Given the description of an element on the screen output the (x, y) to click on. 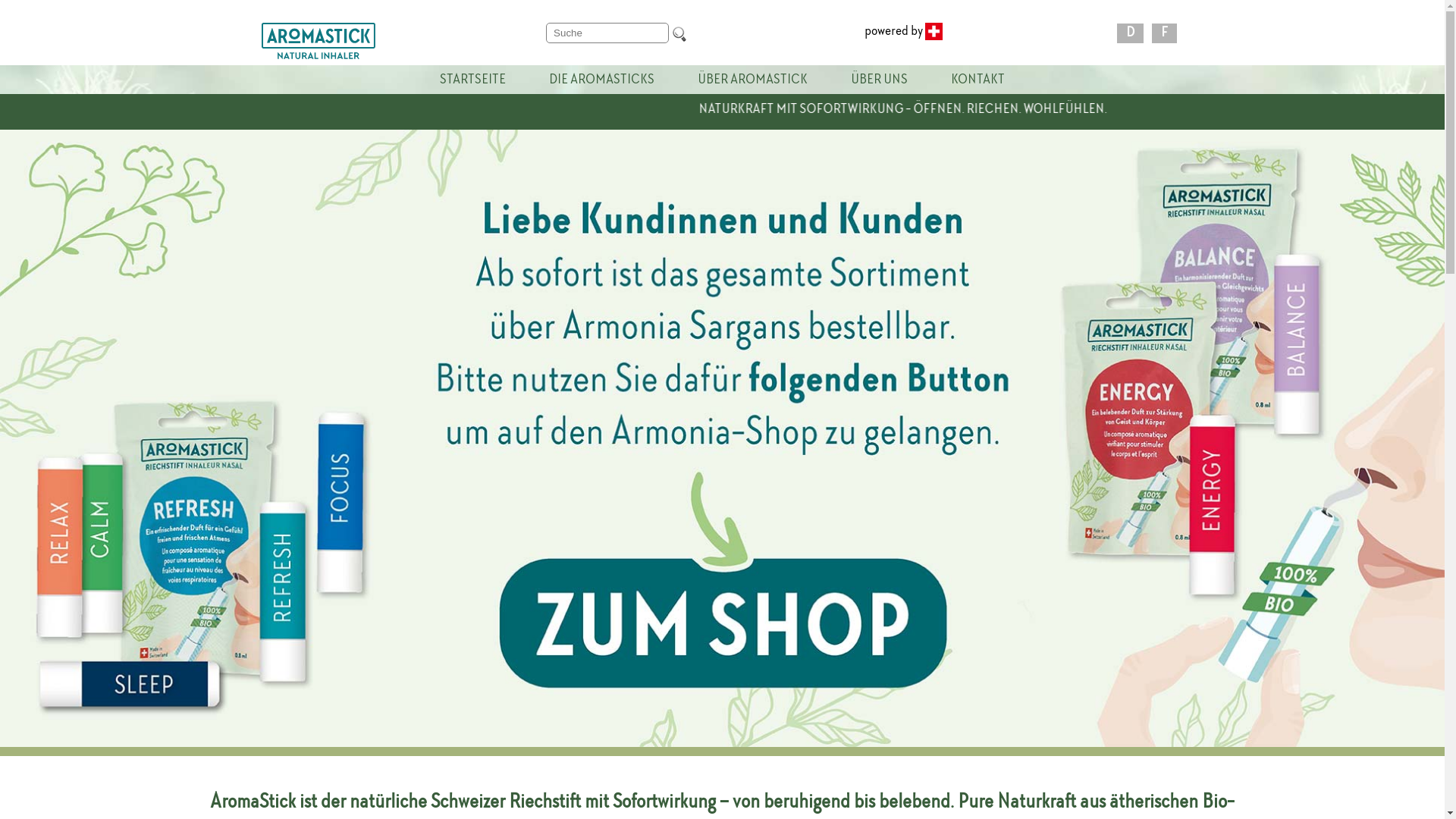
KONTAKT Element type: text (977, 79)
F Element type: text (1167, 32)
STARTSEITE Element type: text (472, 79)
DIE AROMASTICKS Element type: text (601, 79)
